Given the description of an element on the screen output the (x, y) to click on. 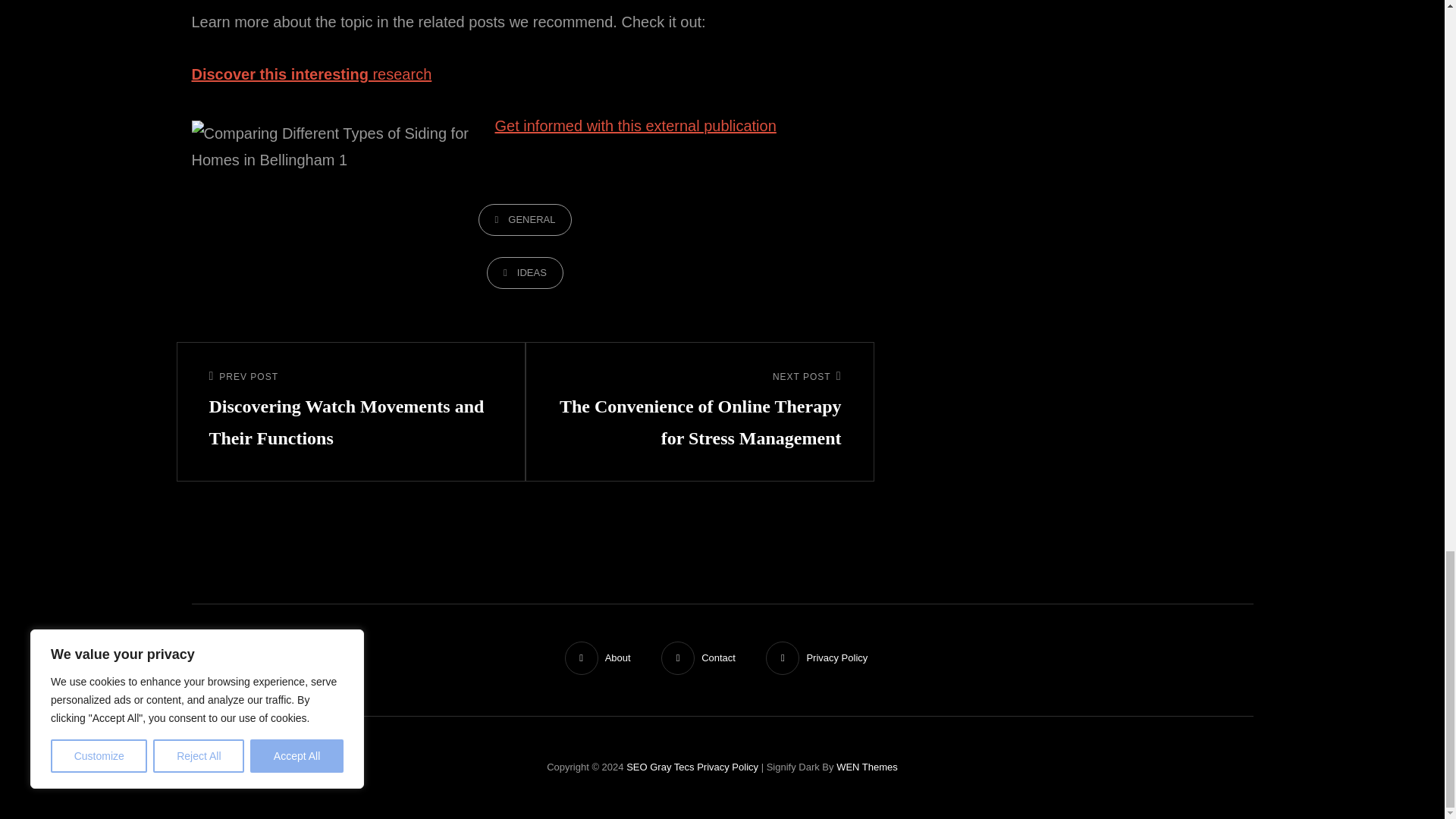
Discover this interesting research (310, 74)
GENERAL (525, 219)
IDEAS (524, 273)
Get informed with this external publication (635, 125)
